Given the description of an element on the screen output the (x, y) to click on. 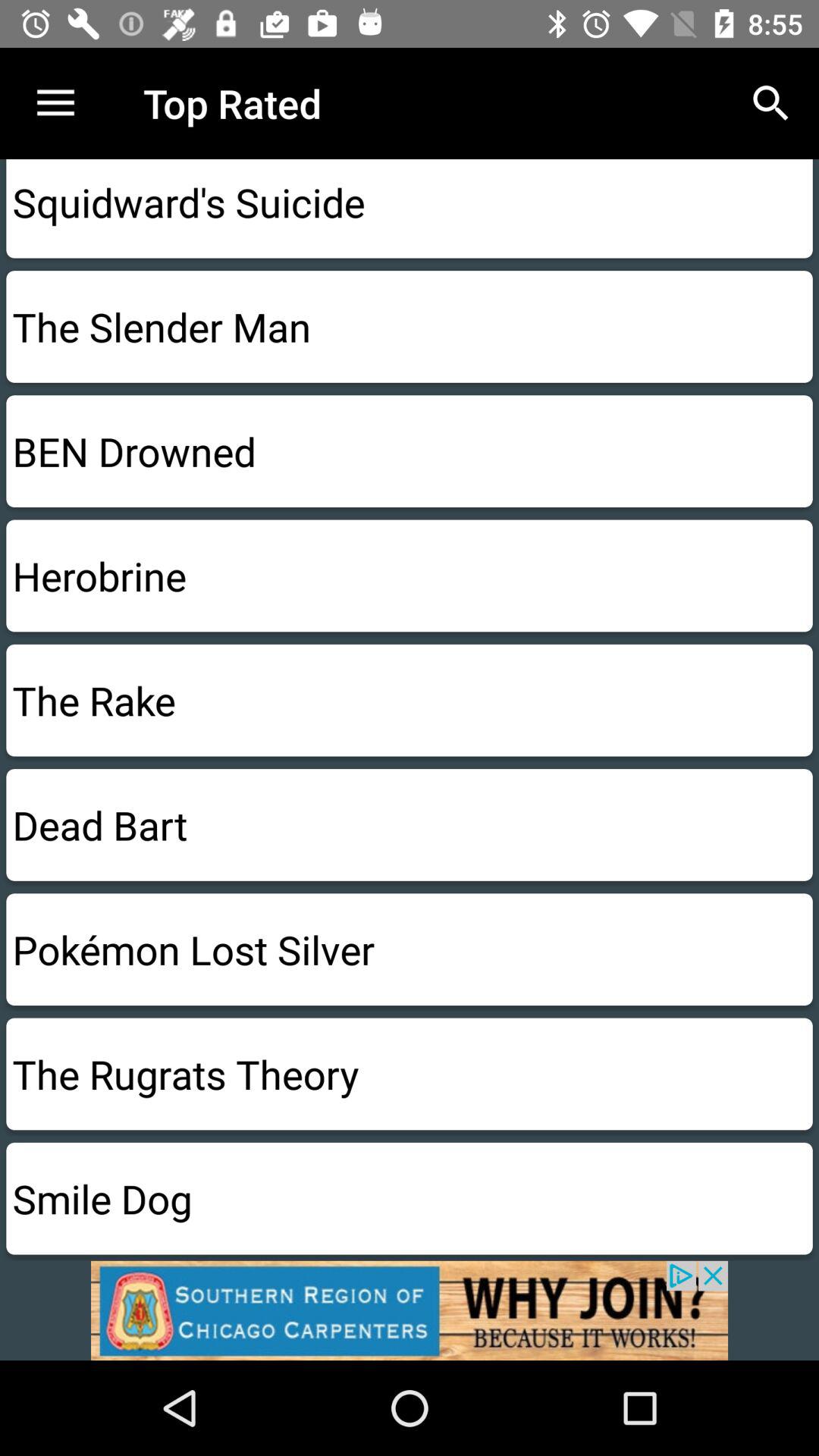
advertisement link (409, 1310)
